Given the description of an element on the screen output the (x, y) to click on. 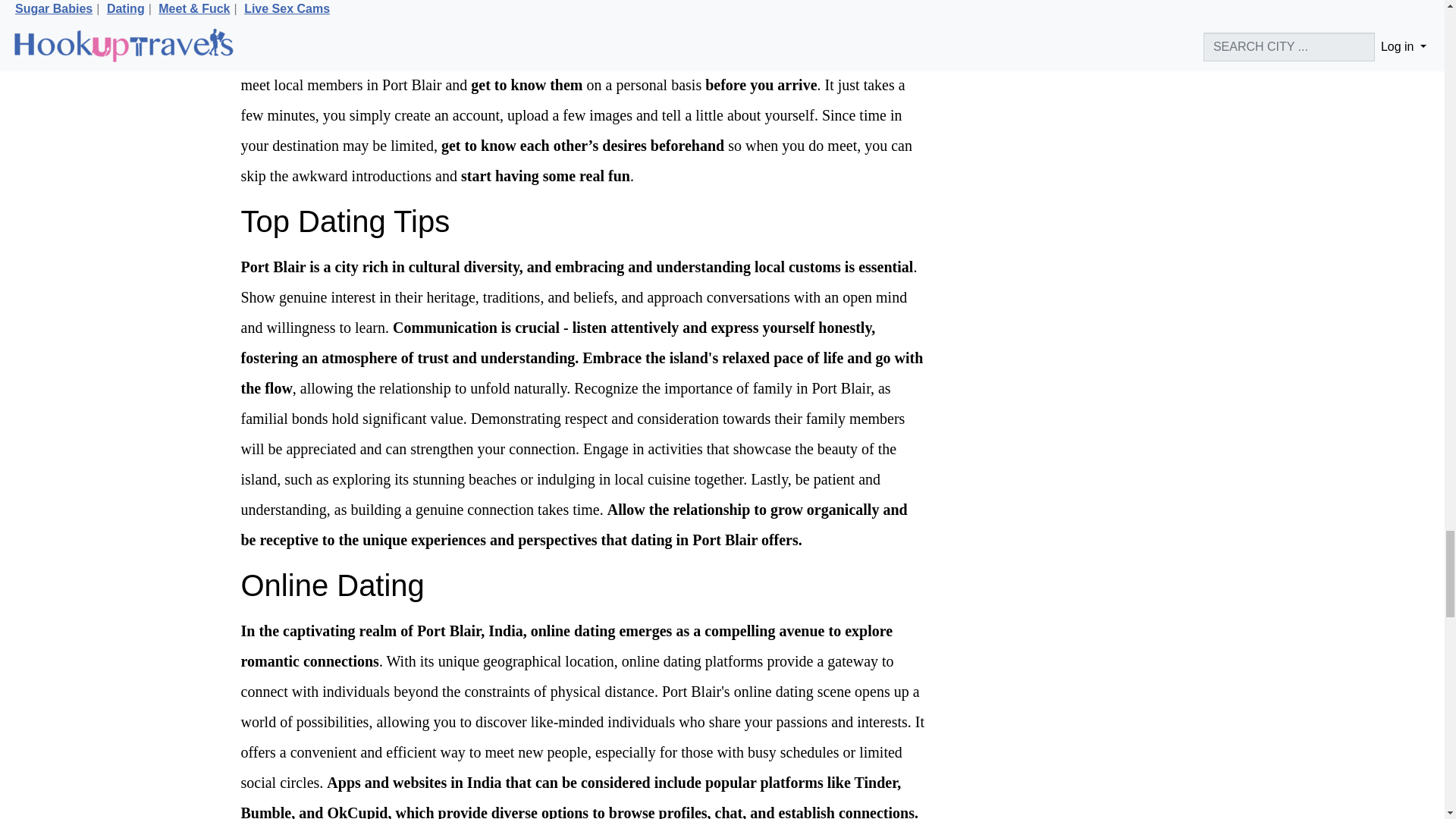
AdultFriendFinder.com (767, 54)
